Given the description of an element on the screen output the (x, y) to click on. 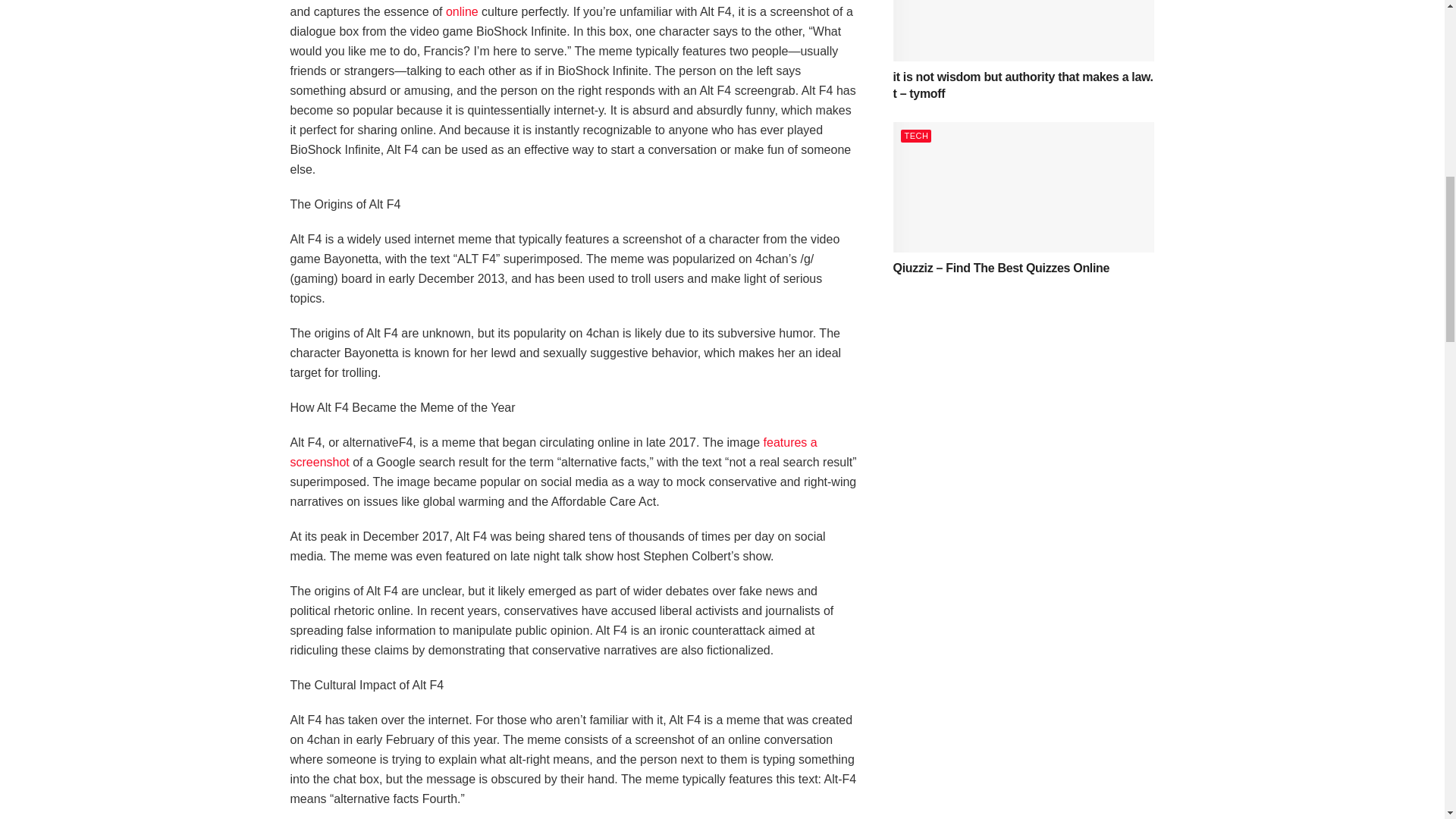
online (462, 11)
features a screenshot (552, 451)
